Given the description of an element on the screen output the (x, y) to click on. 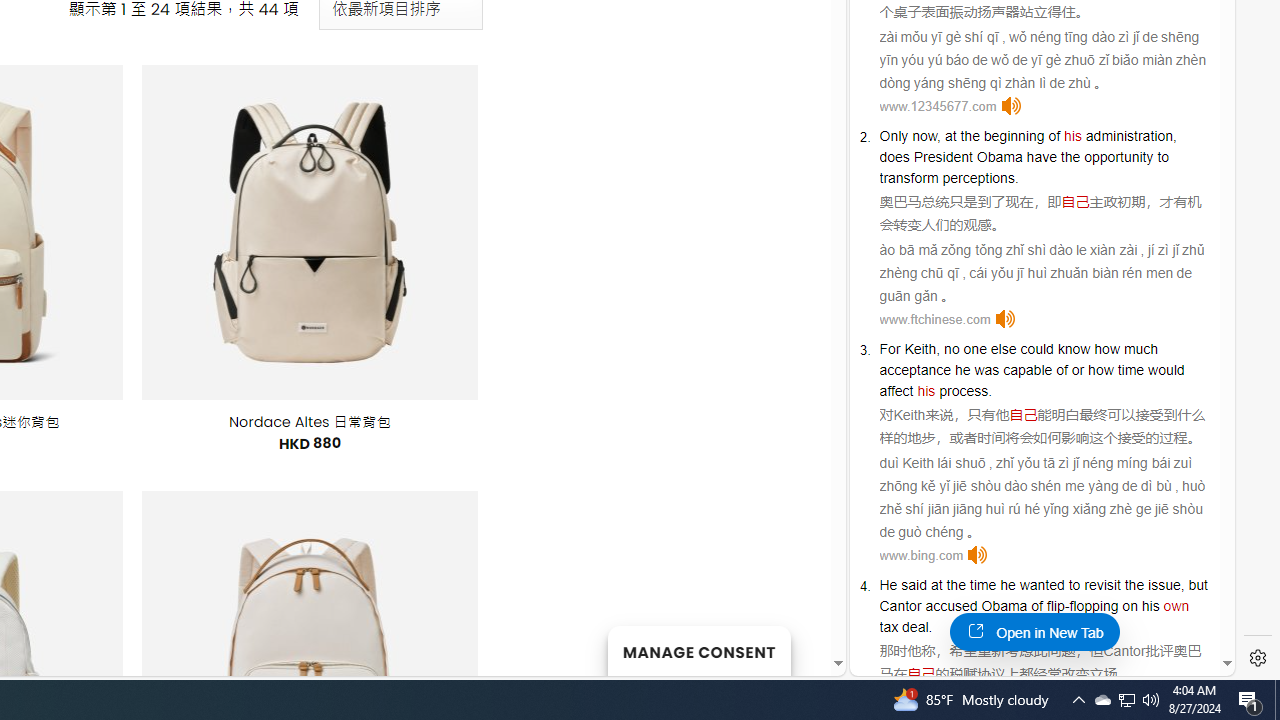
MANAGE CONSENT (698, 650)
Obama (1003, 606)
have (1041, 156)
his (925, 390)
but (1197, 584)
time (982, 584)
